Given the description of an element on the screen output the (x, y) to click on. 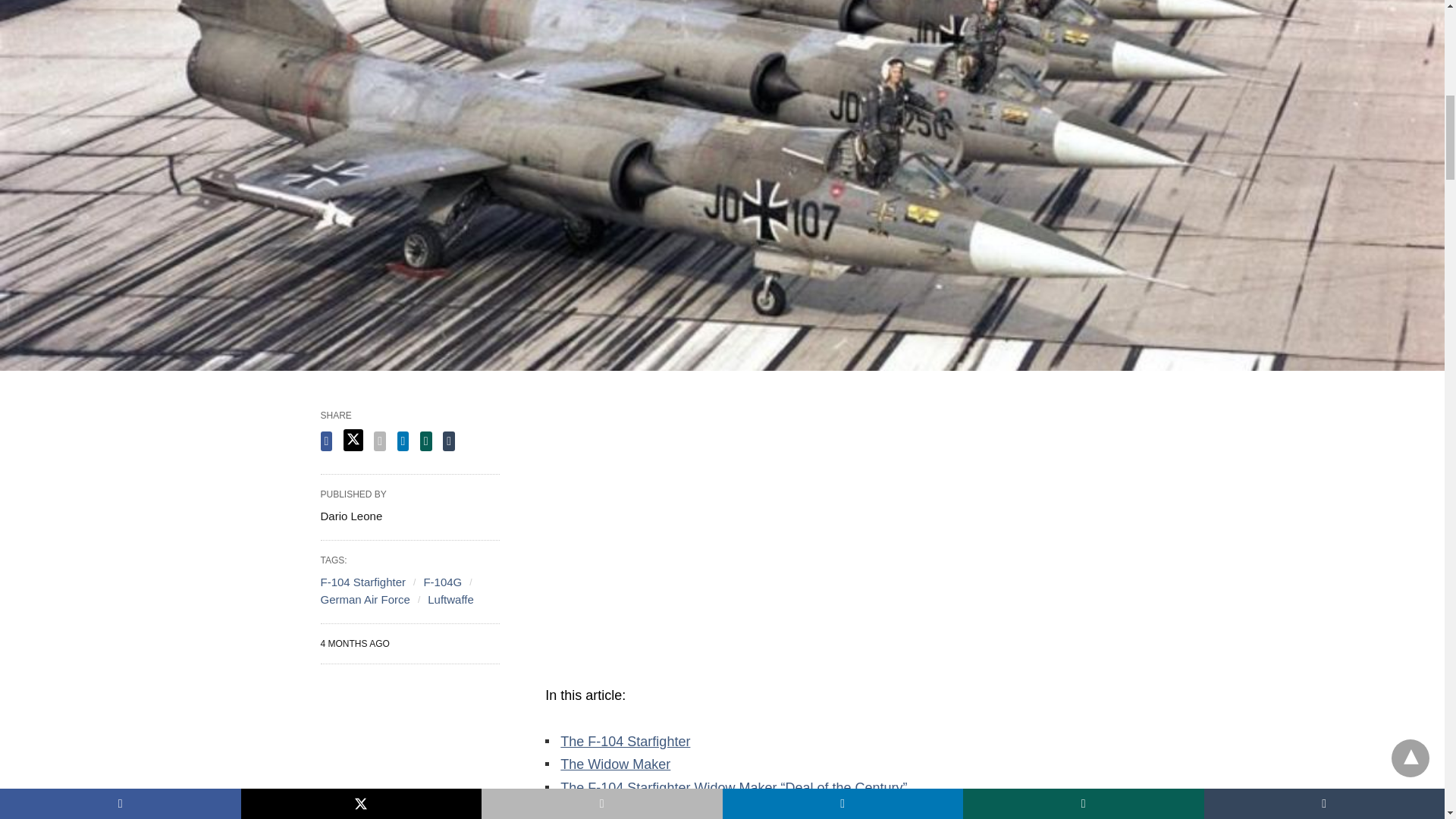
German Air Force (364, 599)
The F-104 Starfighter  (625, 741)
F-104 Starfighter, the Widow Maker (667, 810)
The Widow Maker (614, 764)
F-104 Starfighter, the Widow Maker (667, 810)
The Widow Maker (614, 764)
The F-104 Starfighter (625, 741)
3rd party ad content (409, 753)
Luftwaffe (451, 599)
F-104G (442, 581)
F-104 Starfighter (363, 581)
